Given the description of an element on the screen output the (x, y) to click on. 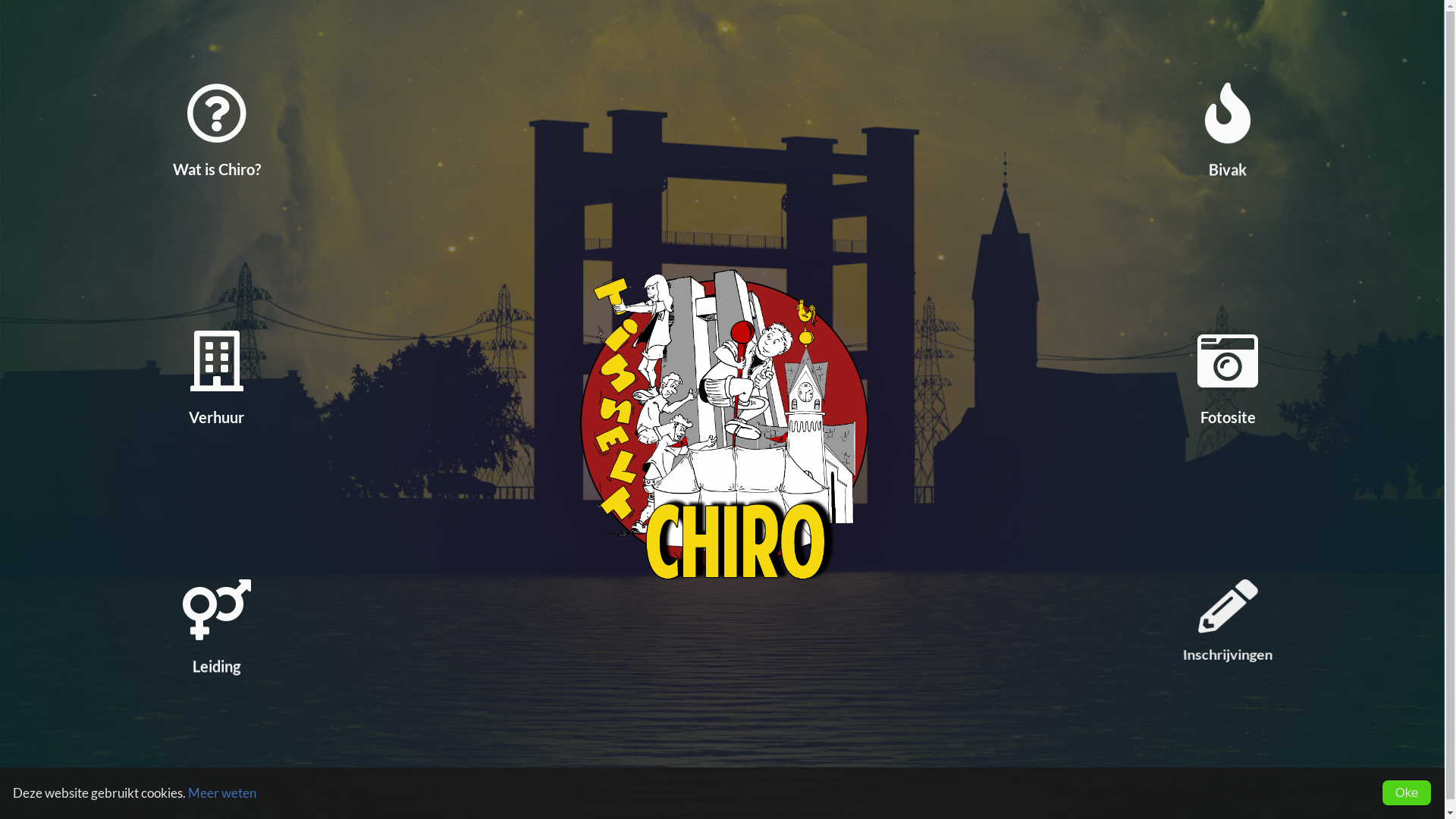
Oke Element type: text (1406, 792)
Meer weten Element type: text (222, 792)
